Given the description of an element on the screen output the (x, y) to click on. 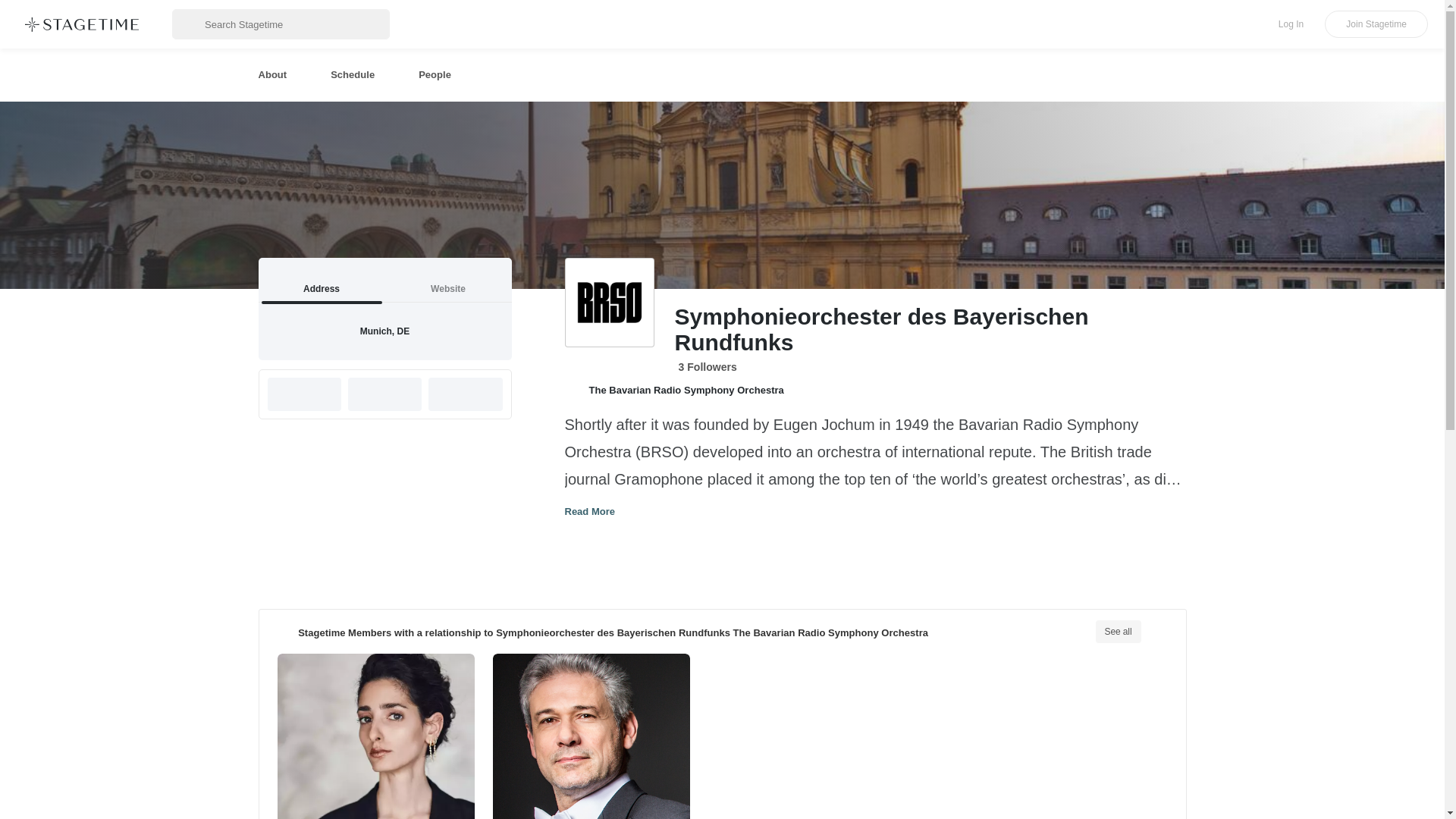
Schedule (352, 74)
People (434, 74)
About (272, 74)
Munich, DE (384, 329)
See all (1117, 630)
Log In (384, 279)
Address (1291, 24)
STAGETIME (320, 279)
Read More (74, 24)
Website (589, 510)
